Given the description of an element on the screen output the (x, y) to click on. 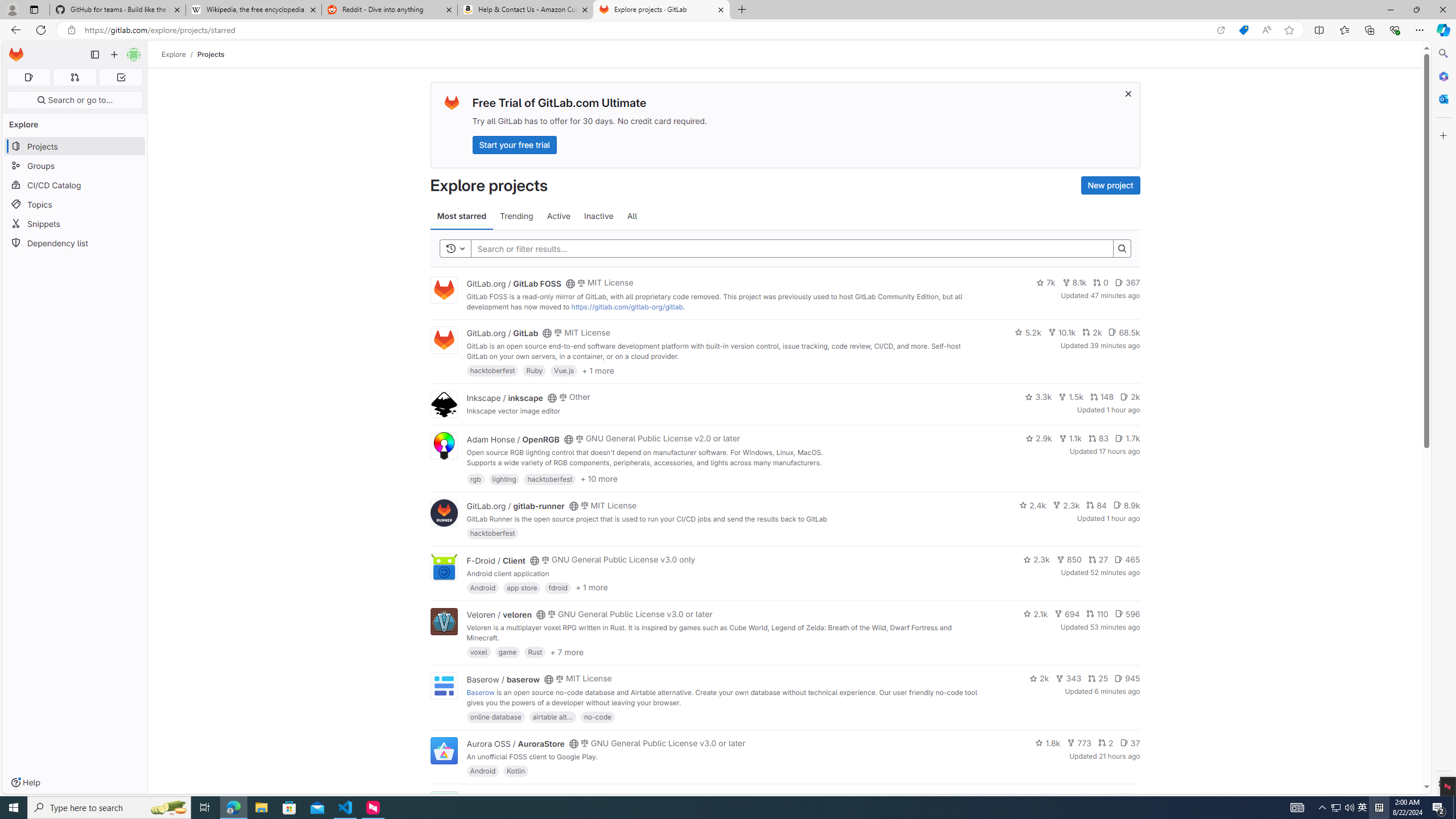
https://openrgb.org (563, 472)
Side bar (1443, 418)
Homepage (16, 54)
Explore/ (179, 53)
voxel (478, 651)
110 (1097, 613)
Dependency list (74, 242)
37 (1129, 742)
8.1k (1073, 282)
Groups (74, 165)
2k (1039, 678)
5.2k (1027, 331)
